Given the description of an element on the screen output the (x, y) to click on. 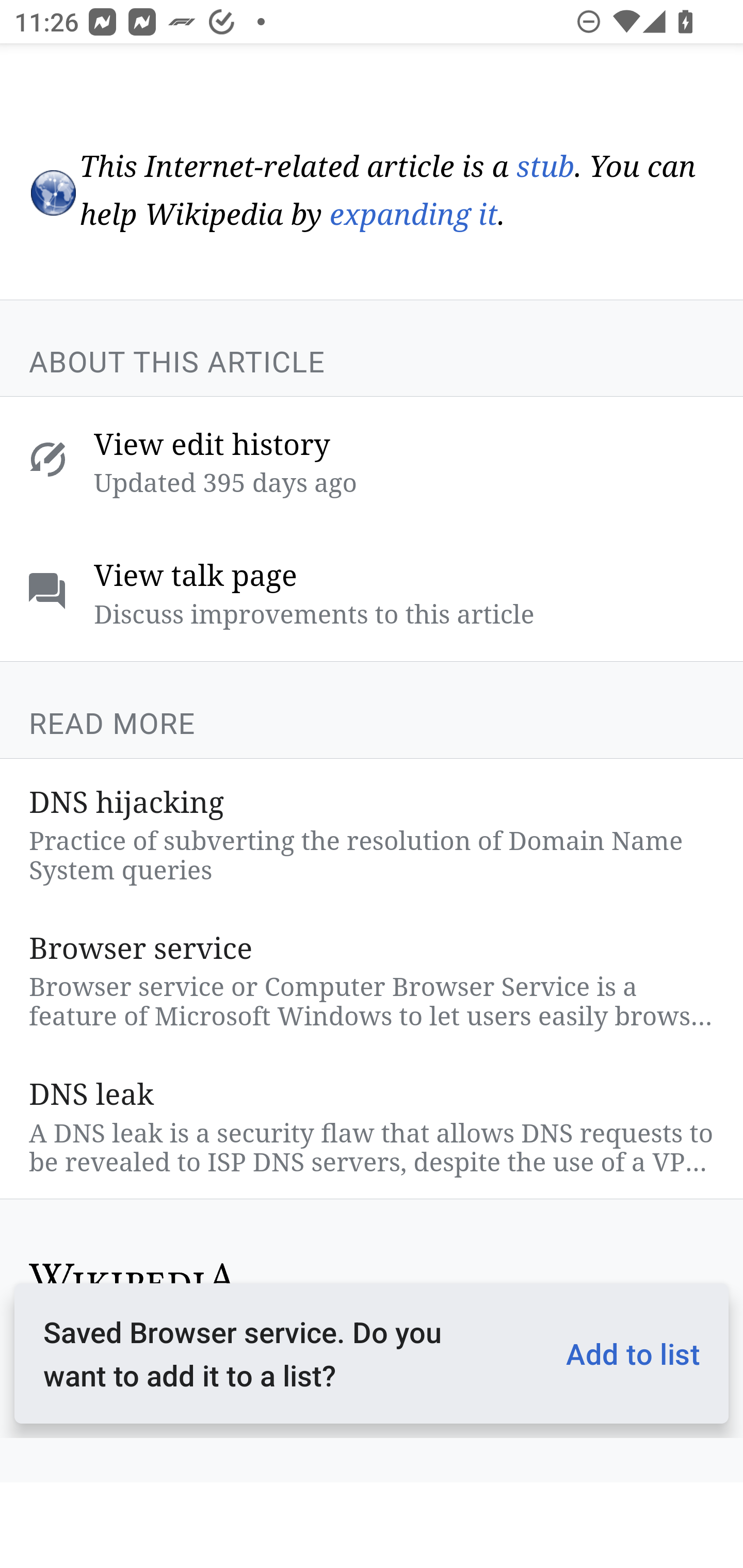
stub (544, 166)
Stub icon (51, 193)
expanding it (413, 217)
Add to list (625, 1353)
